Given the description of an element on the screen output the (x, y) to click on. 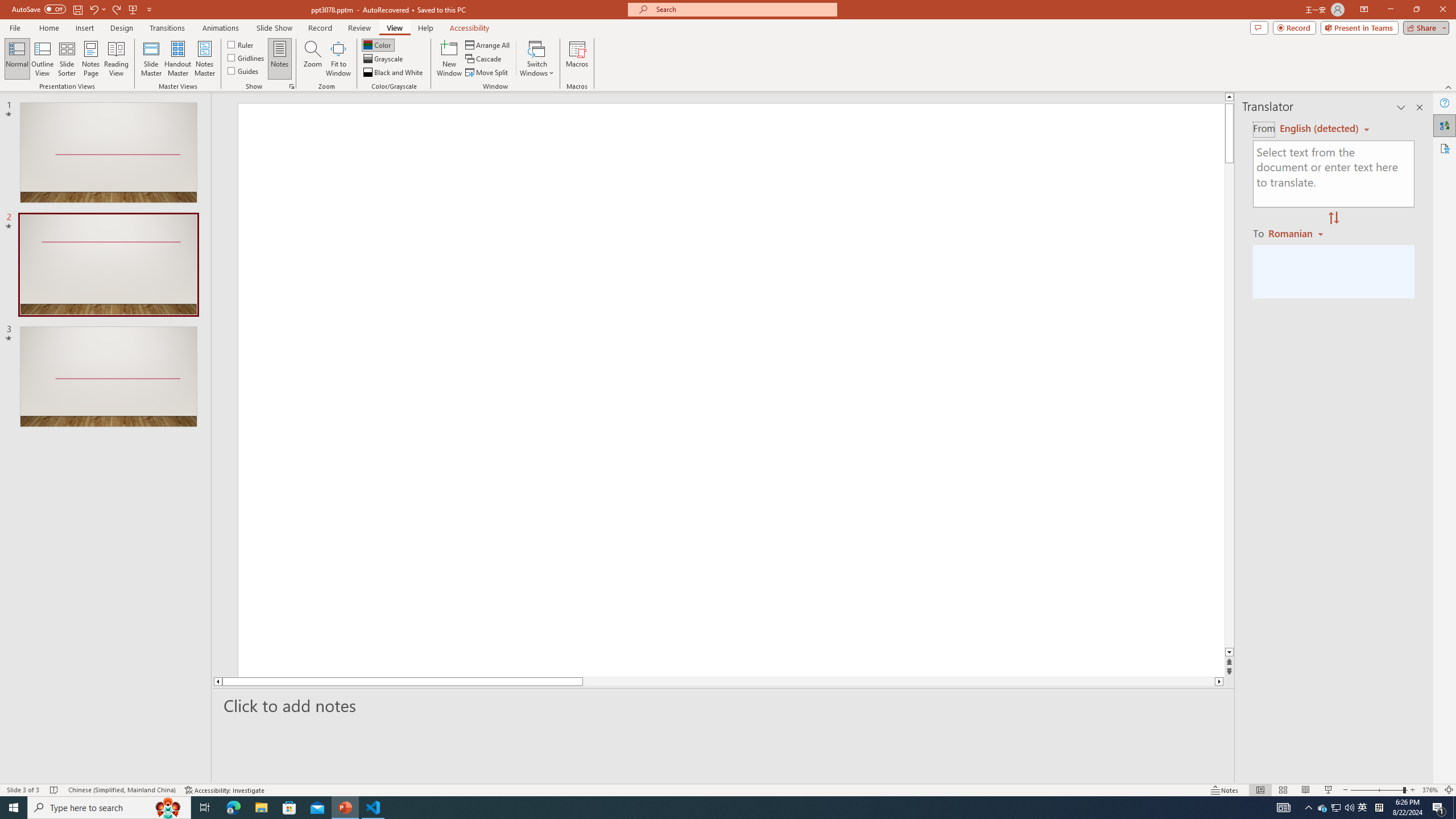
Grid Settings... (291, 85)
New Window (449, 58)
Czech (detected) (1319, 128)
Macros (576, 58)
